Given the description of an element on the screen output the (x, y) to click on. 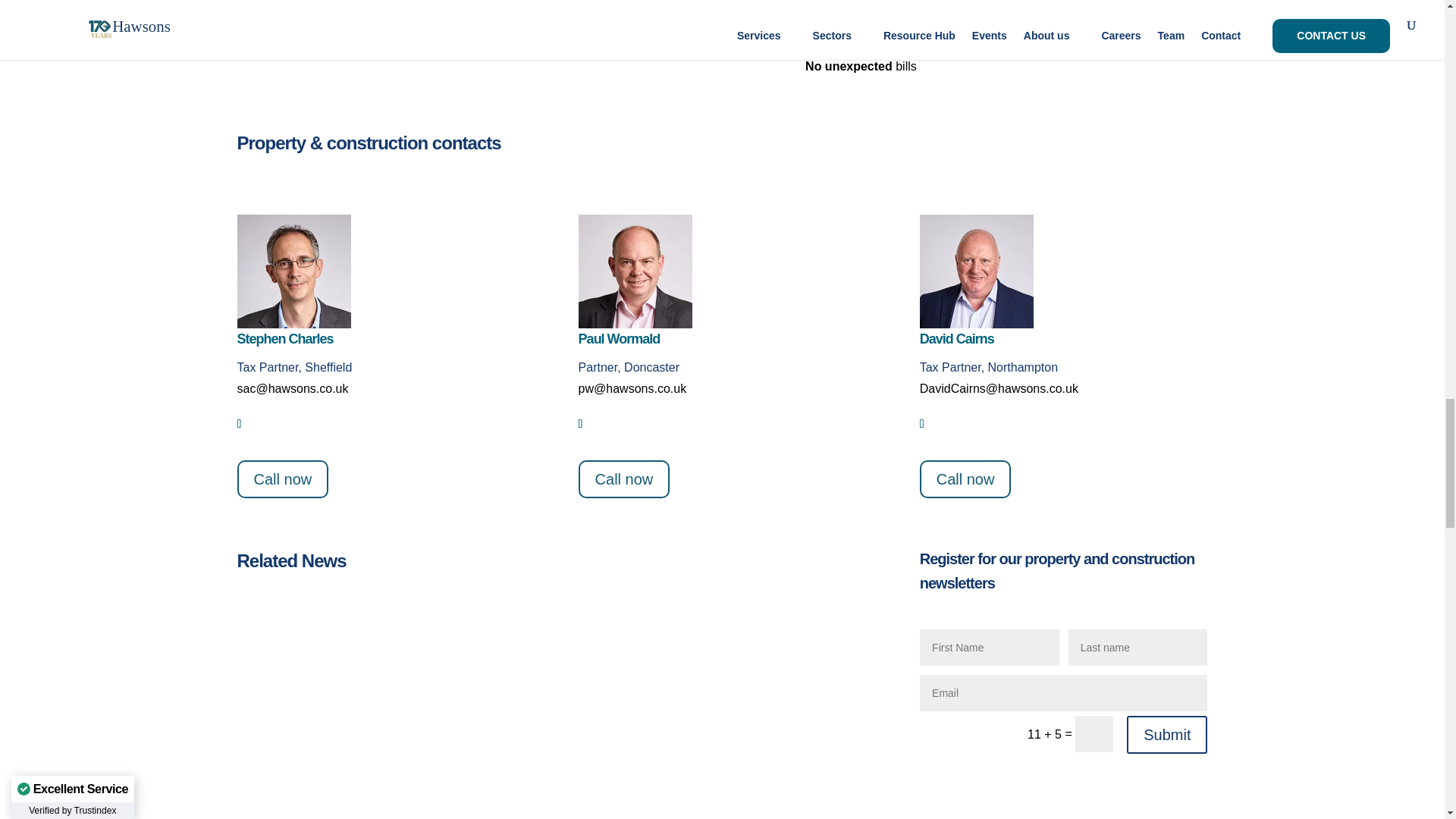
Stephen Charles Small (292, 323)
Paul Wormald Small (635, 323)
David Cairns Small (976, 323)
